Given the description of an element on the screen output the (x, y) to click on. 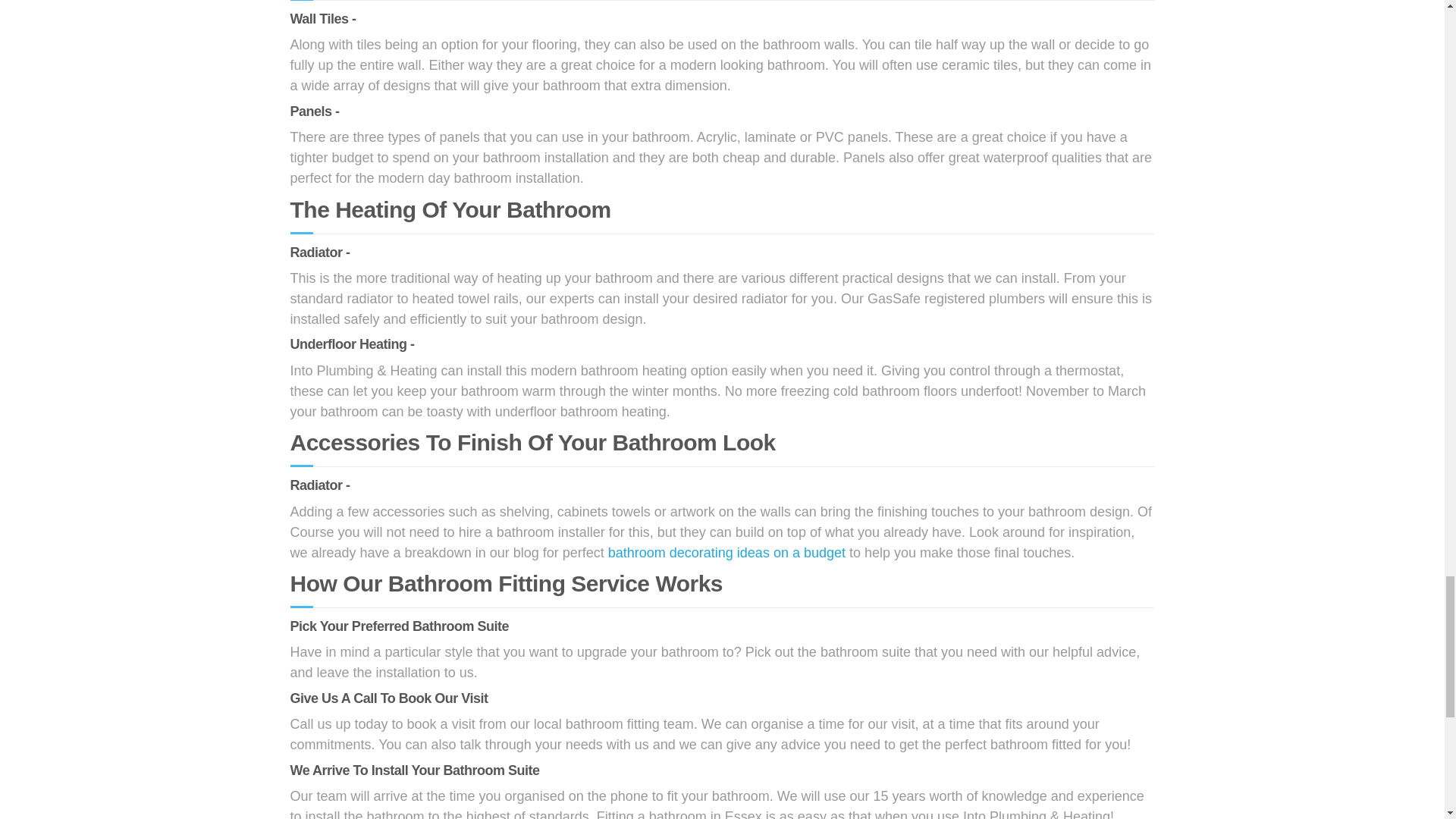
bathroom decorating (726, 551)
